Given the description of an element on the screen output the (x, y) to click on. 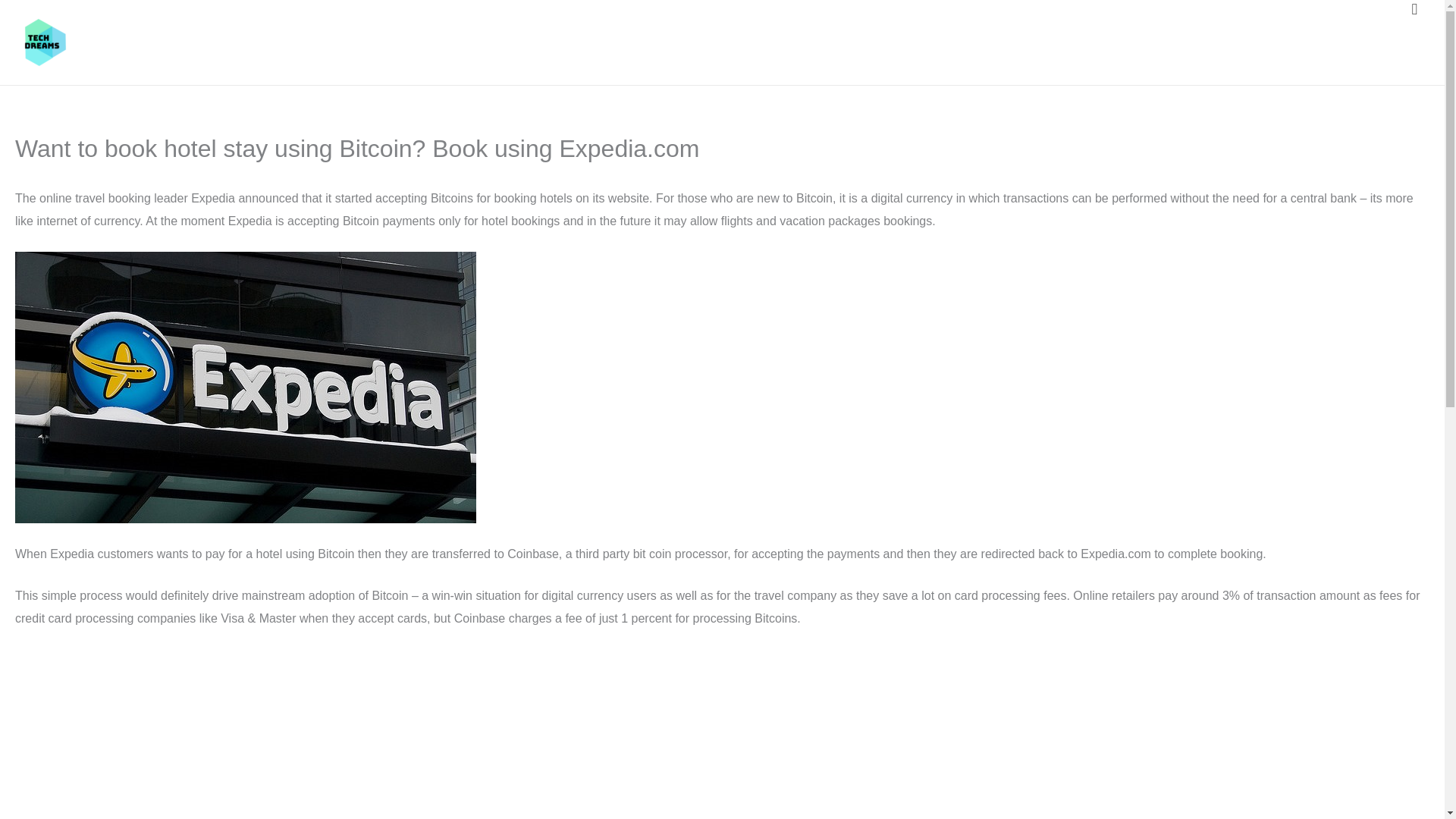
Search (1413, 9)
